Given the description of an element on the screen output the (x, y) to click on. 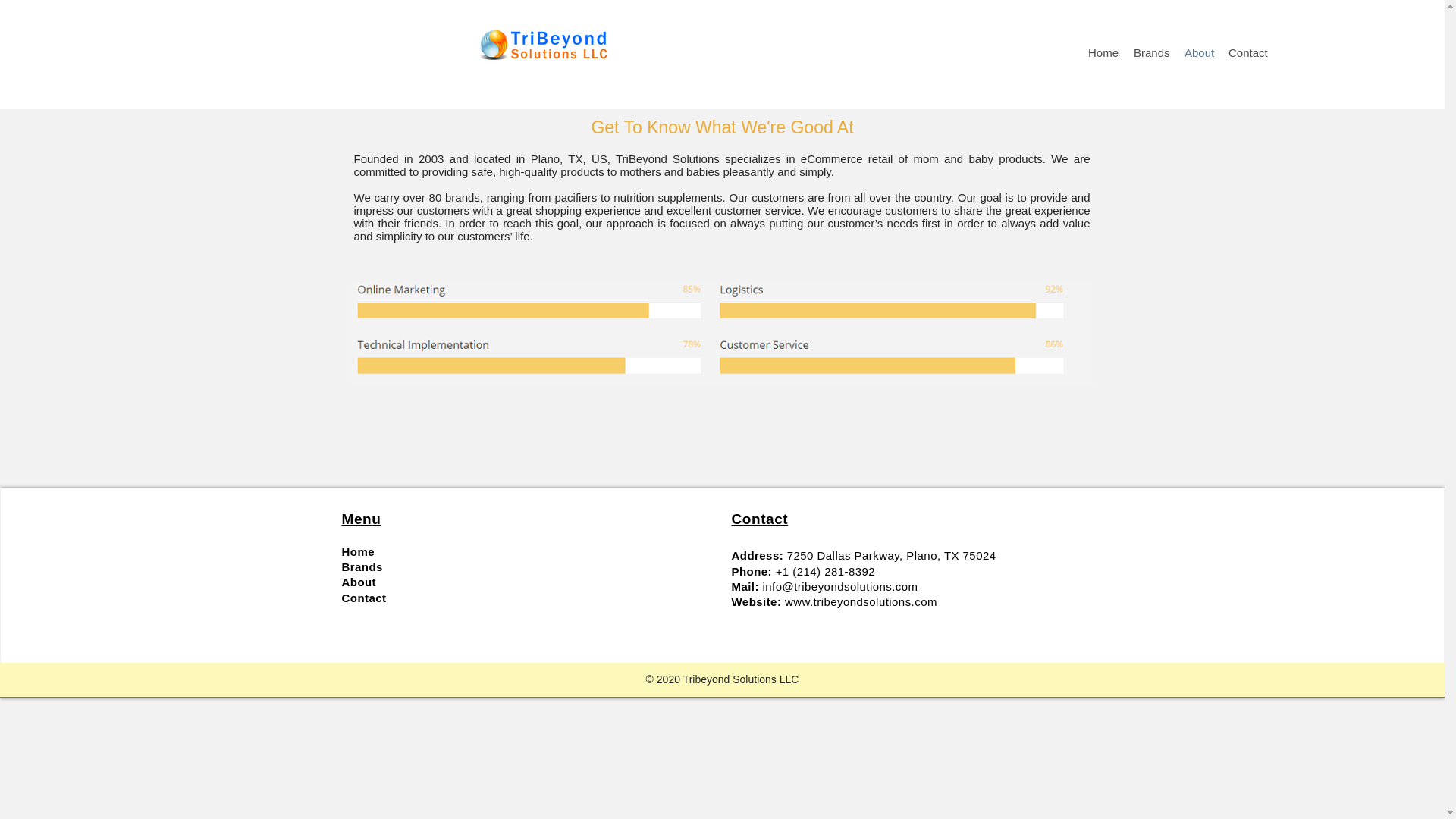
Brands (1150, 52)
Brands (360, 566)
Home (357, 551)
Contact (362, 597)
Home (1102, 52)
Contact (1248, 52)
About (1198, 52)
About (357, 581)
www.tribeyondsolutions.com (860, 601)
